Given the description of an element on the screen output the (x, y) to click on. 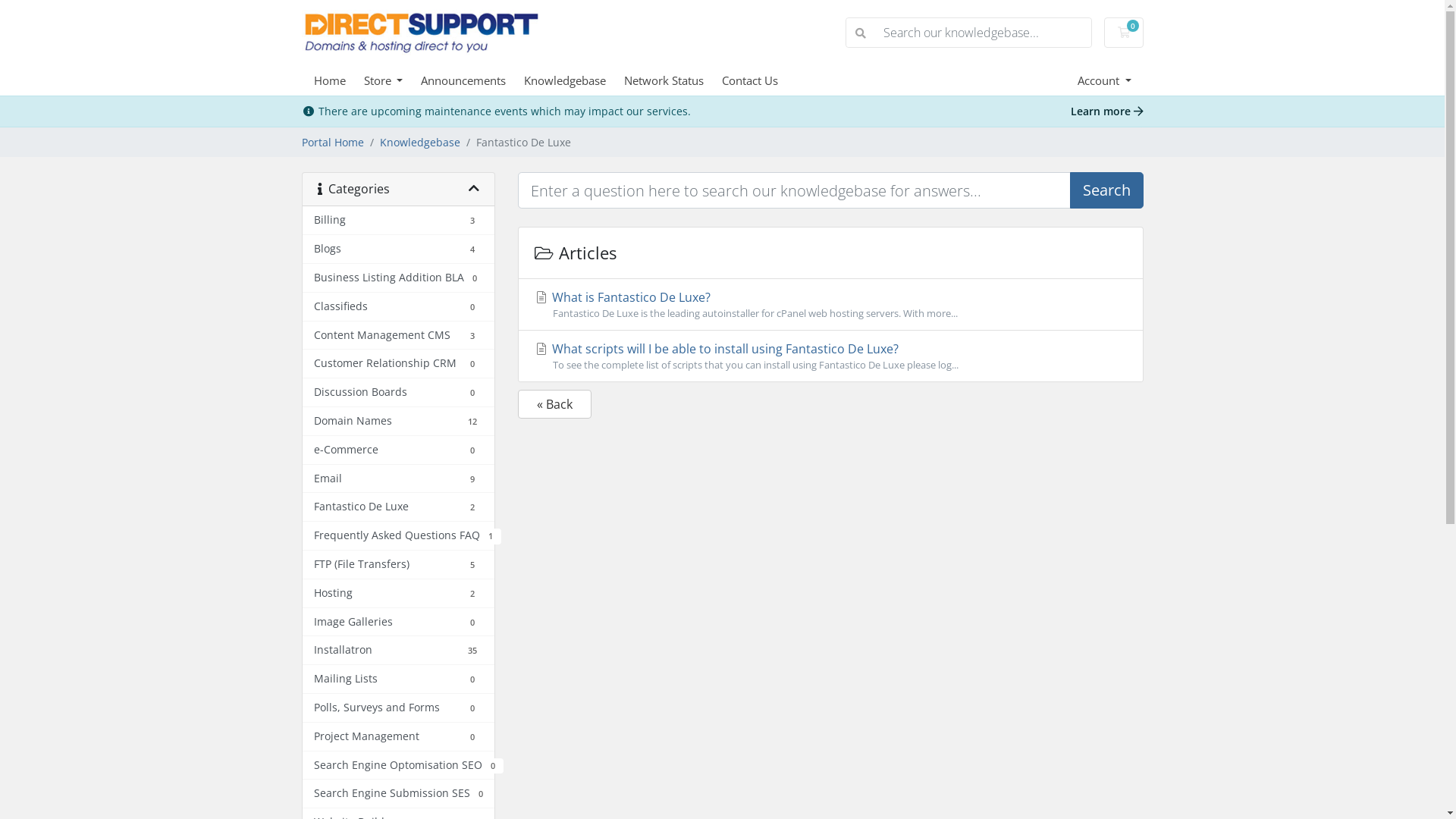
Content Management CMS
3 Element type: text (397, 335)
Learn more Element type: text (1106, 111)
e-Commerce
0 Element type: text (397, 450)
Email
9 Element type: text (397, 478)
Network Status Element type: text (672, 79)
Polls, Surveys and Forms
0 Element type: text (397, 707)
FTP (File Transfers)
5 Element type: text (397, 564)
Project Management
0 Element type: text (397, 736)
Announcements Element type: text (472, 79)
Fantastico De Luxe
2 Element type: text (397, 506)
Classifieds
0 Element type: text (397, 306)
Frequently Asked Questions FAQ
1 Element type: text (397, 535)
Knowledgebase Element type: text (419, 142)
Image Galleries
0 Element type: text (397, 622)
Search Engine Optomisation SEO
0 Element type: text (397, 765)
Business Listing Addition BLA
0 Element type: text (397, 277)
Customer Relationship CRM
0 Element type: text (397, 363)
Billing
3 Element type: text (397, 220)
Search Element type: text (1105, 190)
0
Shopping Cart Element type: text (1123, 32)
Blogs
4 Element type: text (397, 249)
Discussion Boards
0 Element type: text (397, 392)
Installatron
35 Element type: text (397, 650)
Store Element type: text (392, 79)
Hosting
2 Element type: text (397, 593)
Home Element type: text (338, 79)
Contact Us Element type: text (758, 79)
Portal Home Element type: text (332, 142)
Mailing Lists
0 Element type: text (397, 679)
Knowledgebase Element type: text (574, 79)
Domain Names
12 Element type: text (397, 421)
Account Element type: text (1104, 79)
Search Engine Submission SES
0 Element type: text (397, 793)
